Given the description of an element on the screen output the (x, y) to click on. 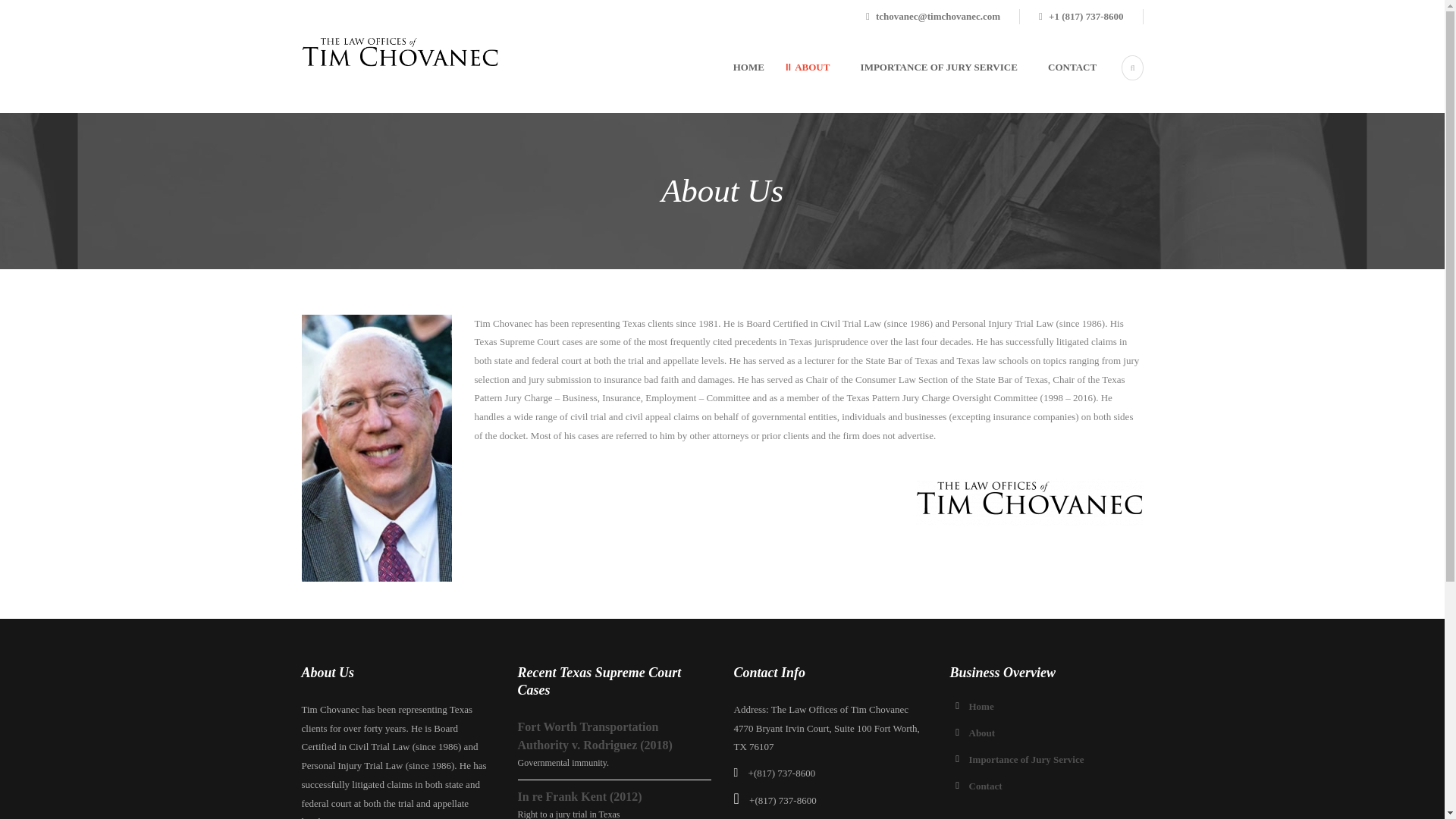
ABOUT (796, 85)
Home (981, 706)
IMPORTANCE OF JURY SERVICE (922, 85)
Contact (986, 785)
About (982, 732)
CONTACT (1056, 85)
Importance of Jury Service (1026, 758)
